Given the description of an element on the screen output the (x, y) to click on. 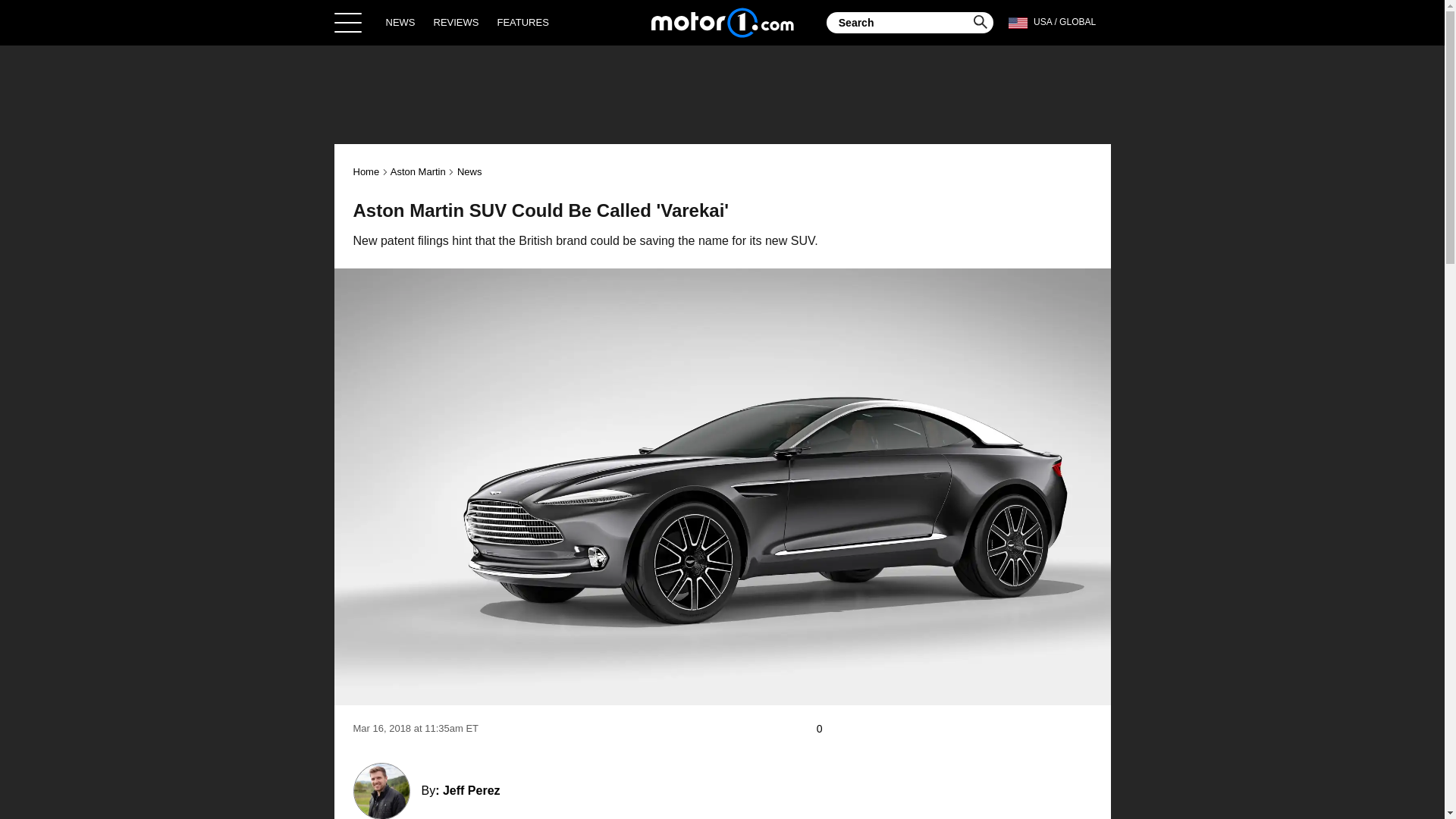
FEATURES (522, 22)
NEWS (399, 22)
Jeff Perez (471, 789)
Aston Martin (417, 171)
0 (826, 728)
Home (721, 22)
Home (366, 171)
News (469, 171)
REVIEWS (456, 22)
